Given the description of an element on the screen output the (x, y) to click on. 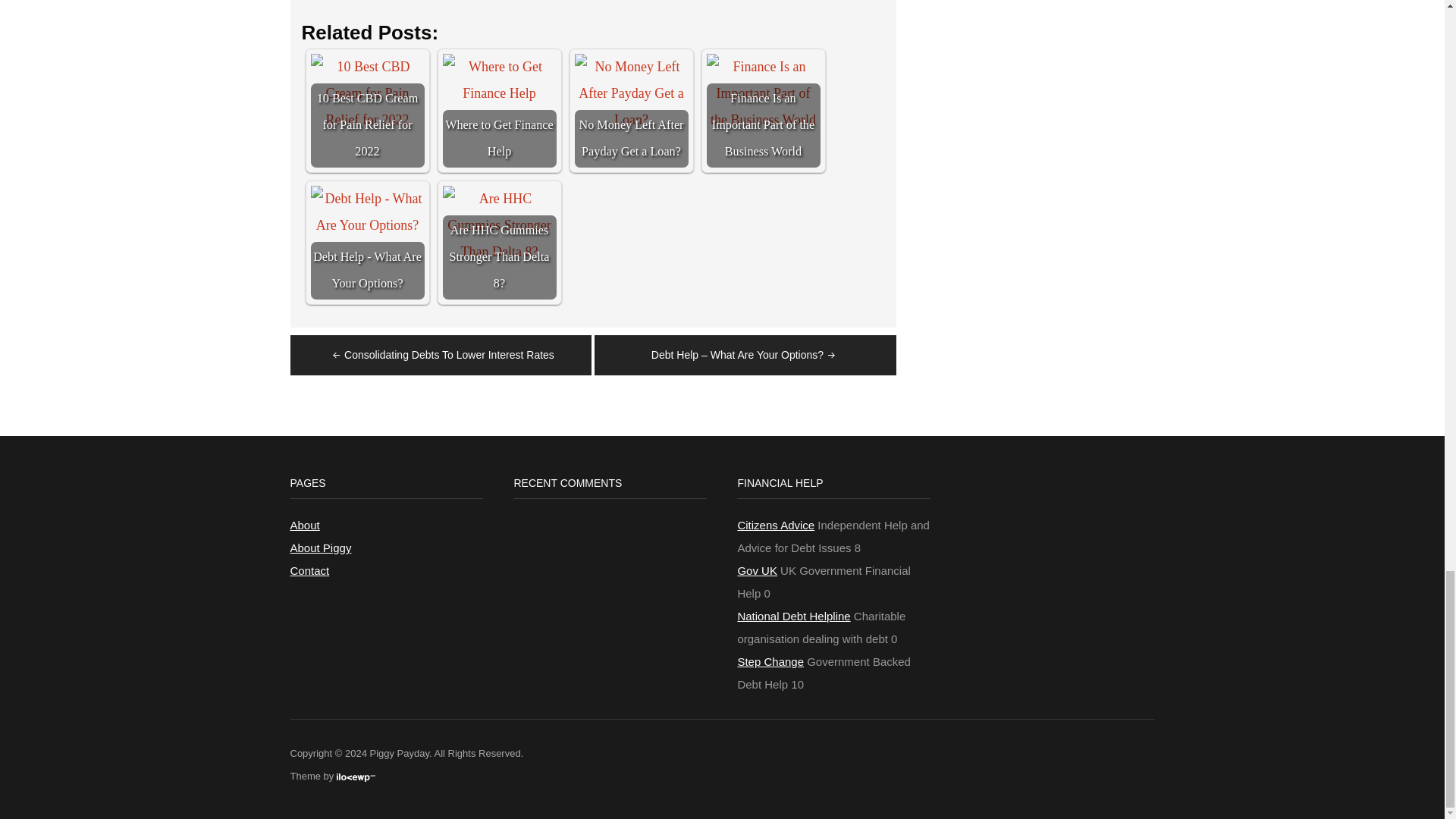
Government Backed Debt Help (769, 661)
Charitable organisation dealing with debt (793, 615)
No Money Left After Payday Get a Loan? (631, 110)
Finance Is an Important Part of the Business World (763, 93)
Where to Get Finance Help (499, 80)
Debt Help - What Are Your Options? (368, 212)
Finance Is an Important Part of the Business World (763, 110)
Are HHC Gummies Stronger Than Delta 8? (499, 242)
Independent Help and Advice for Debt Issues (774, 524)
Consolidating Debts To Lower Interest Rates (440, 354)
No Money Left After Payday Get a Loan? (631, 93)
10 Best CBD Cream for Pain Relief for 2022 (368, 93)
Where to Get Finance Help (499, 110)
Are HHC Gummies Stronger Than Delta 8? (499, 225)
UK Government Financial Help (756, 570)
